Given the description of an element on the screen output the (x, y) to click on. 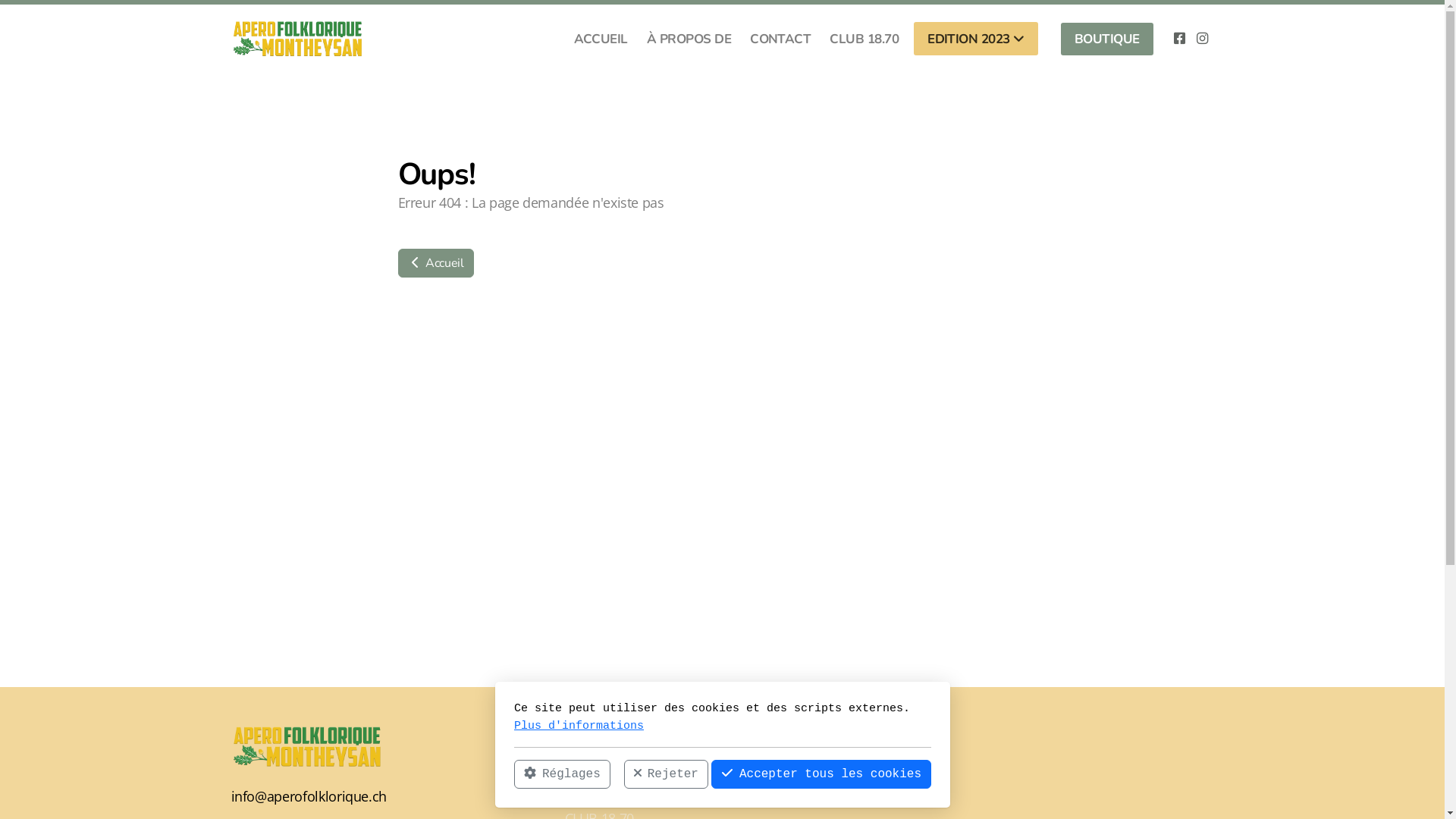
Conditions d'utilisation Element type: text (817, 777)
Rejeter Element type: text (665, 773)
EDITION 2023 Element type: text (975, 38)
Accepter tous les cookies Element type: text (820, 773)
CLUB 18.70 Element type: text (864, 38)
Accueil Element type: text (435, 262)
BOUTIQUE Element type: text (1106, 38)
CONTACT Element type: text (780, 38)
Plus d'informations Element type: text (578, 724)
Accueil Element type: text (586, 758)
Contact Element type: text (587, 798)
ACCUEIL Element type: text (600, 38)
